Given the description of an element on the screen output the (x, y) to click on. 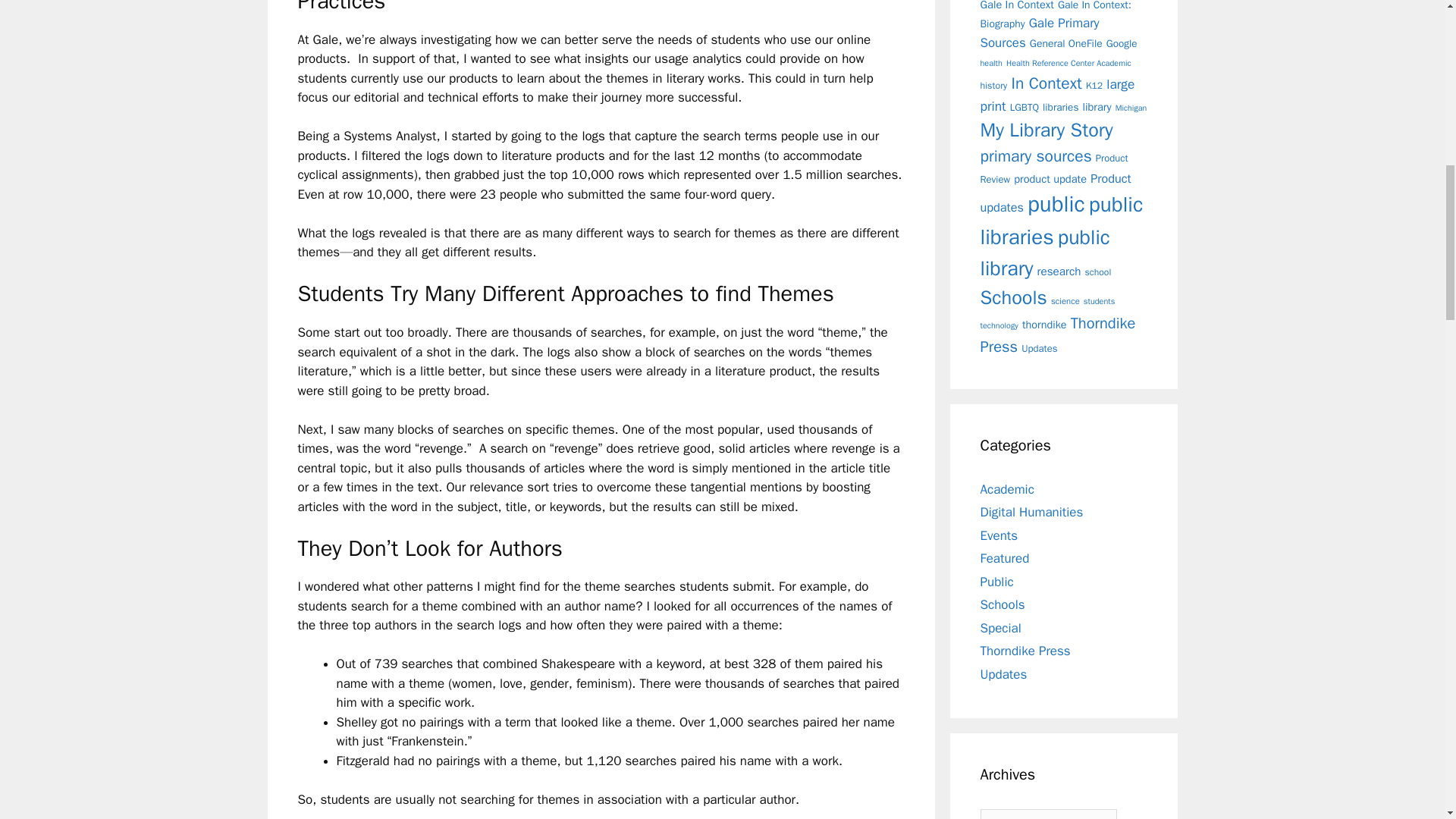
Scroll back to top (1406, 720)
